Given the description of an element on the screen output the (x, y) to click on. 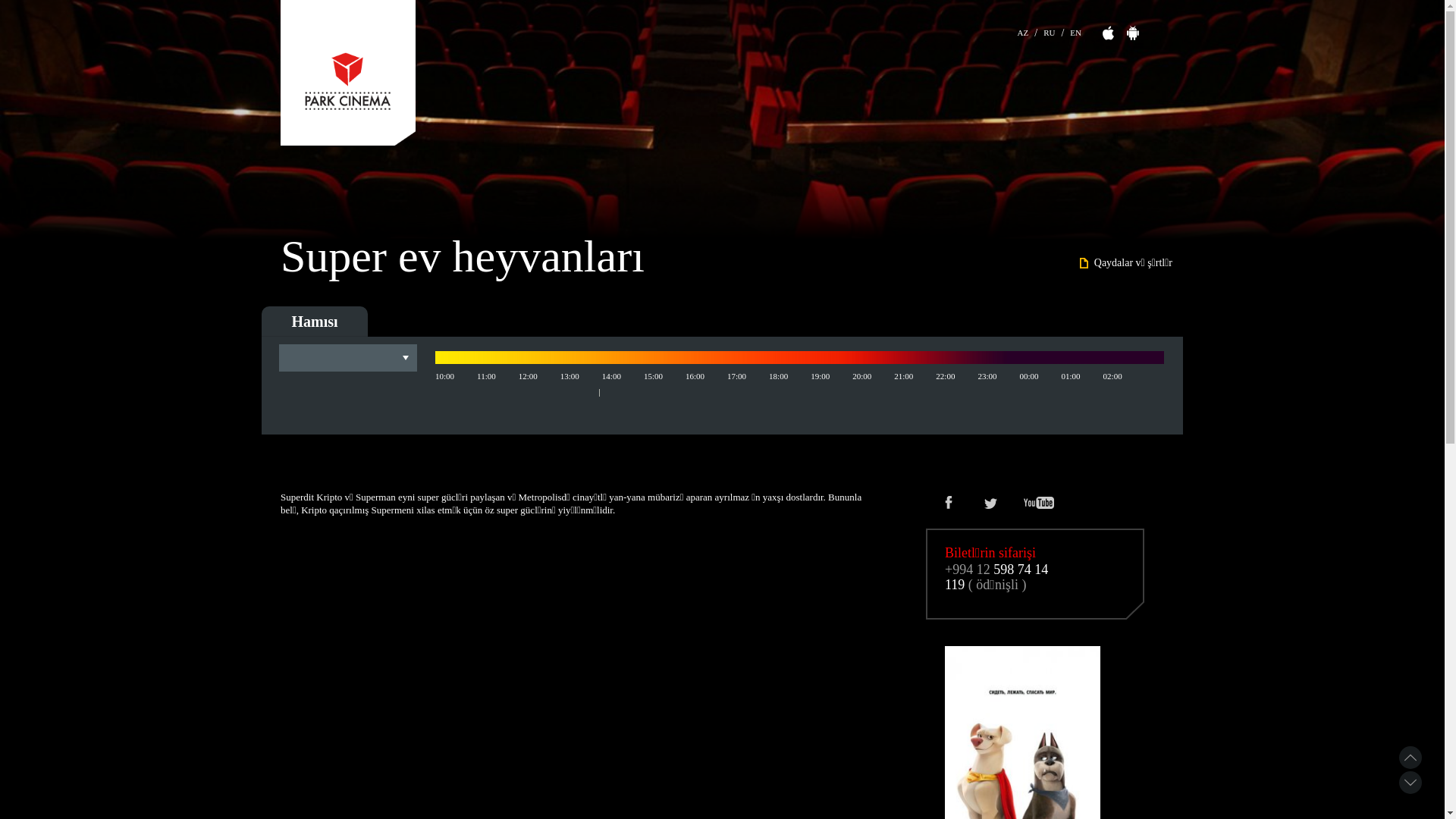
RU Element type: text (1048, 30)
AZ Element type: text (1023, 30)
EN Element type: text (1075, 30)
